Given the description of an element on the screen output the (x, y) to click on. 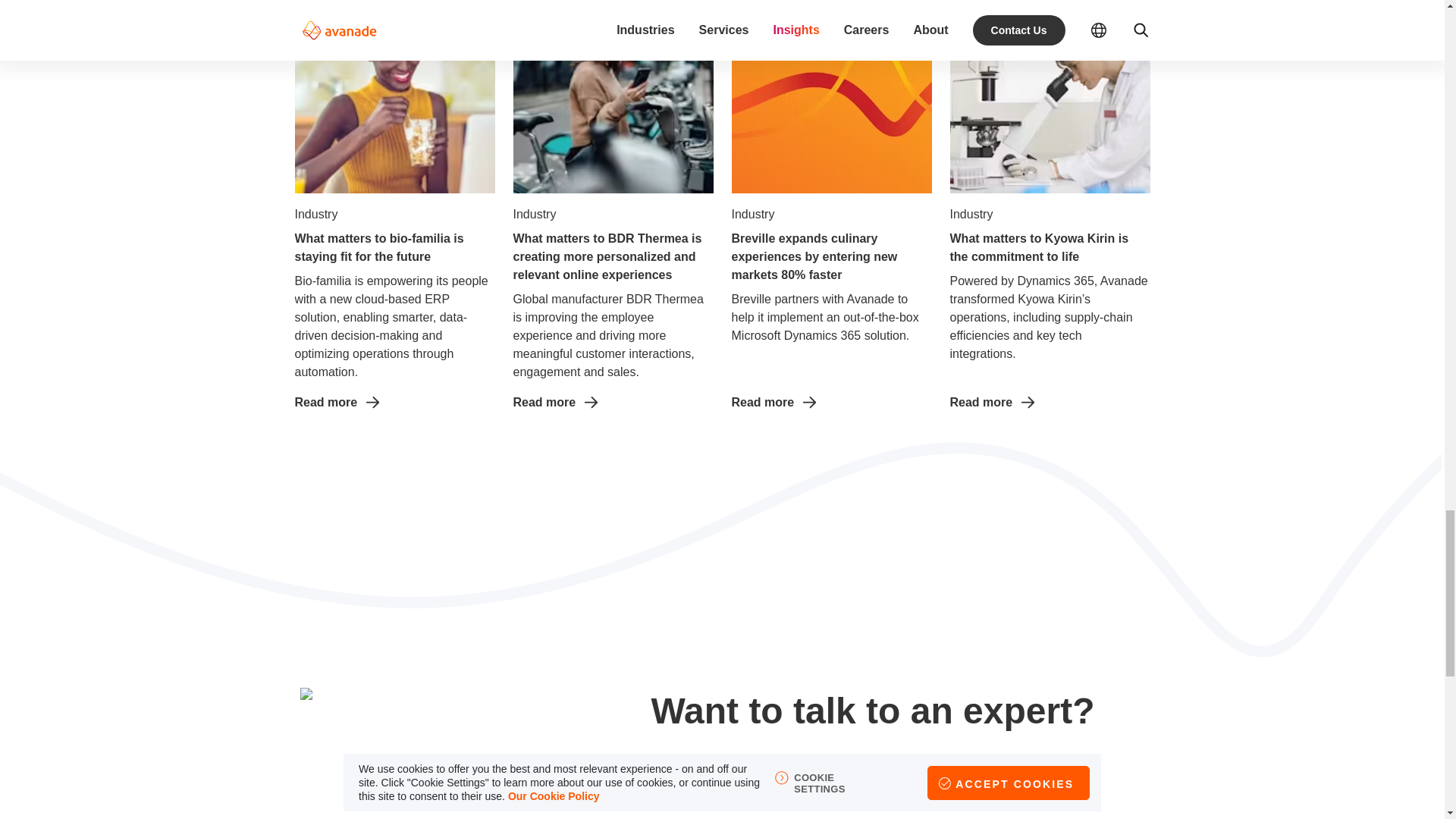
Read more (830, 402)
Read more (1049, 402)
Read more (394, 402)
Read more (612, 402)
